Given the description of an element on the screen output the (x, y) to click on. 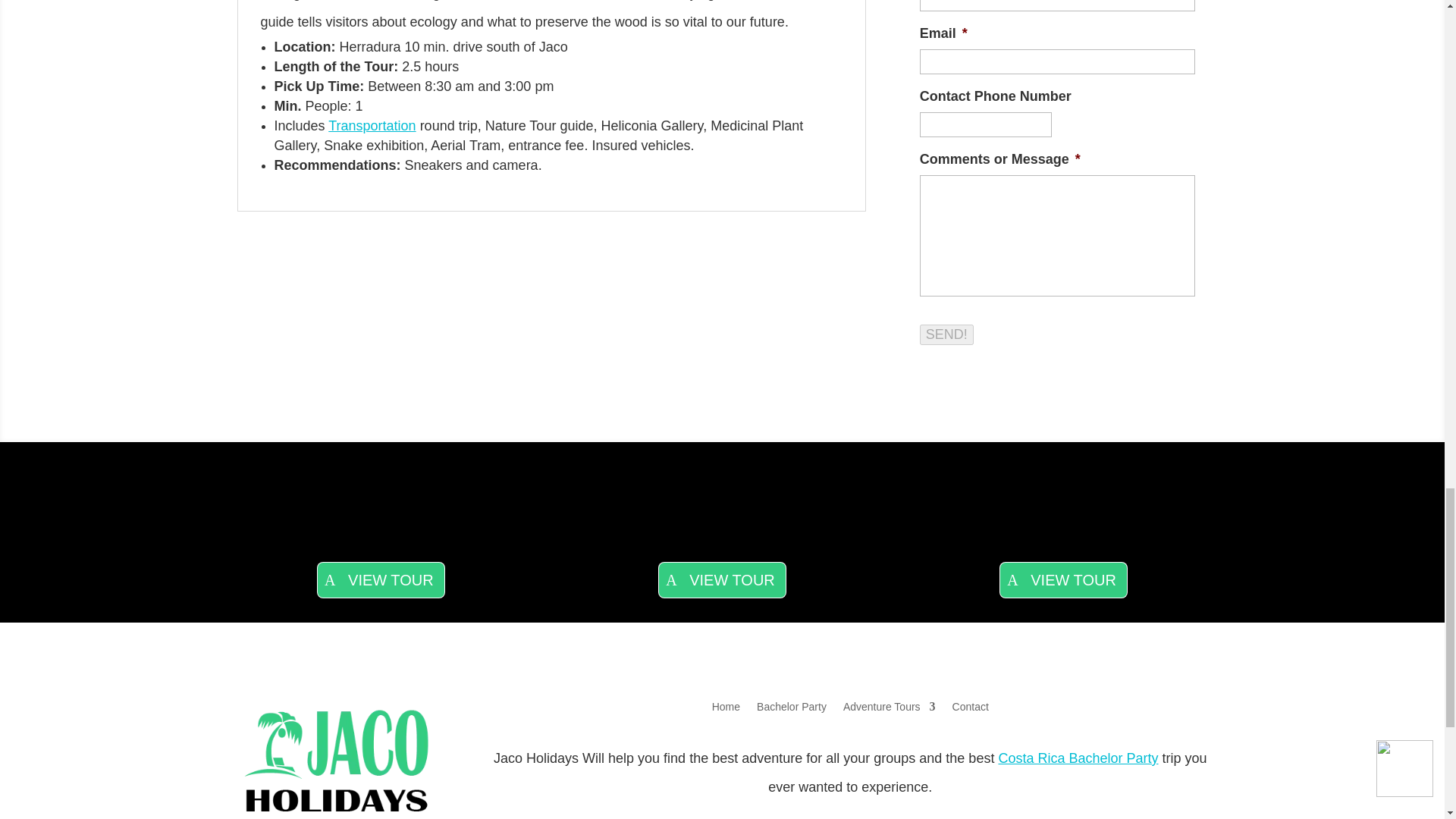
Home (725, 709)
VIEW TOUR (1062, 579)
SEND! (947, 334)
VIEW TOUR (381, 579)
Costa Rica Bachelor Party (1077, 758)
Transportation (371, 125)
Bachelor Party (792, 709)
Costa Rica Bachelor Party (792, 709)
Transportation (371, 125)
Adventure Tours (889, 709)
SEND! (947, 334)
VIEW TOUR (722, 579)
Jaco Holiday Tours (337, 817)
Jaco Adventure Tours (889, 709)
Contact (970, 709)
